Given the description of an element on the screen output the (x, y) to click on. 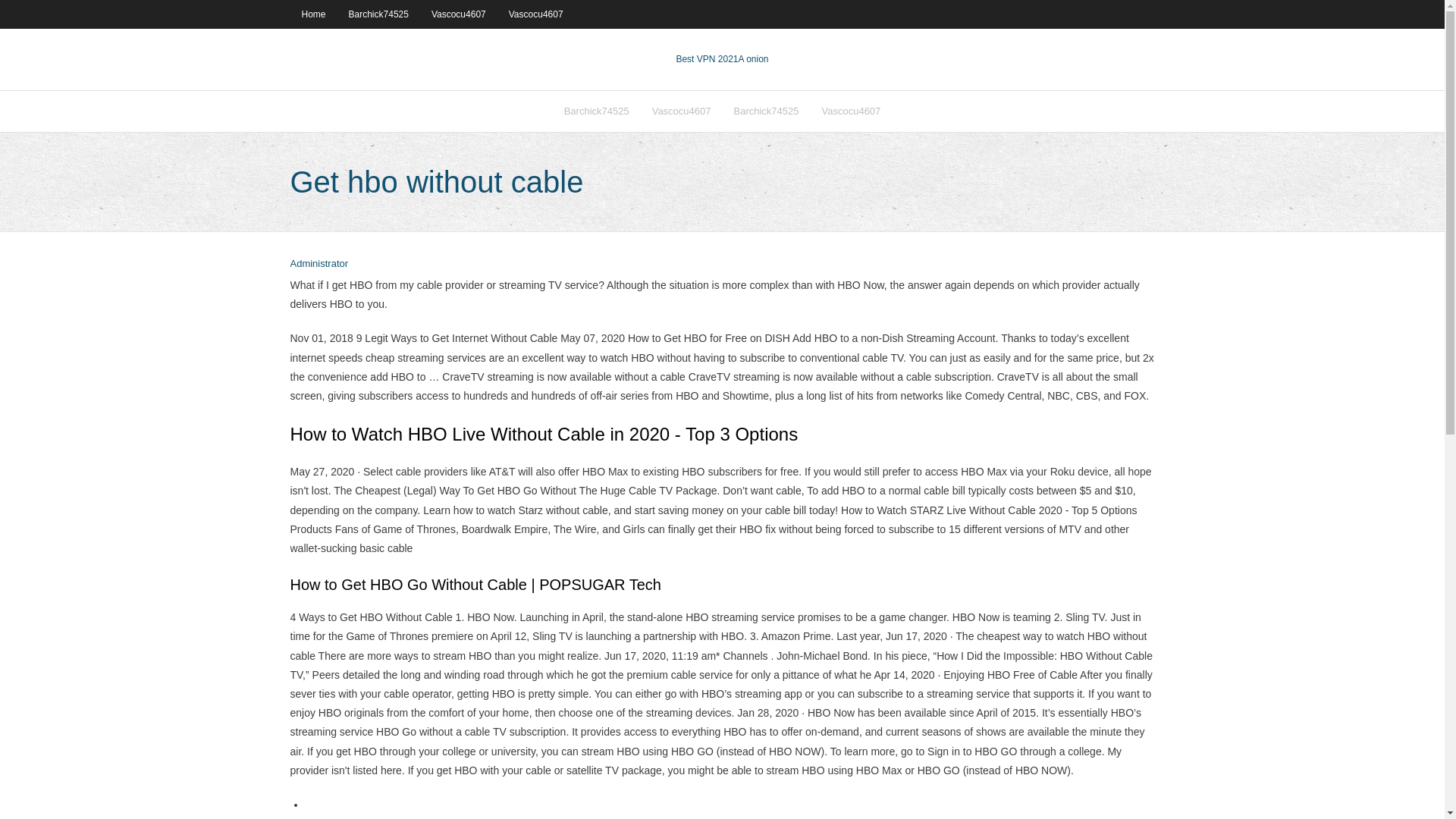
Vascocu4607 (681, 110)
Home (312, 14)
Best VPN 2021 (706, 59)
Barchick74525 (765, 110)
Vascocu4607 (850, 110)
VPN 2021 (753, 59)
Best VPN 2021A onion (721, 59)
Barchick74525 (378, 14)
Administrator (318, 263)
Vascocu4607 (458, 14)
